Given the description of an element on the screen output the (x, y) to click on. 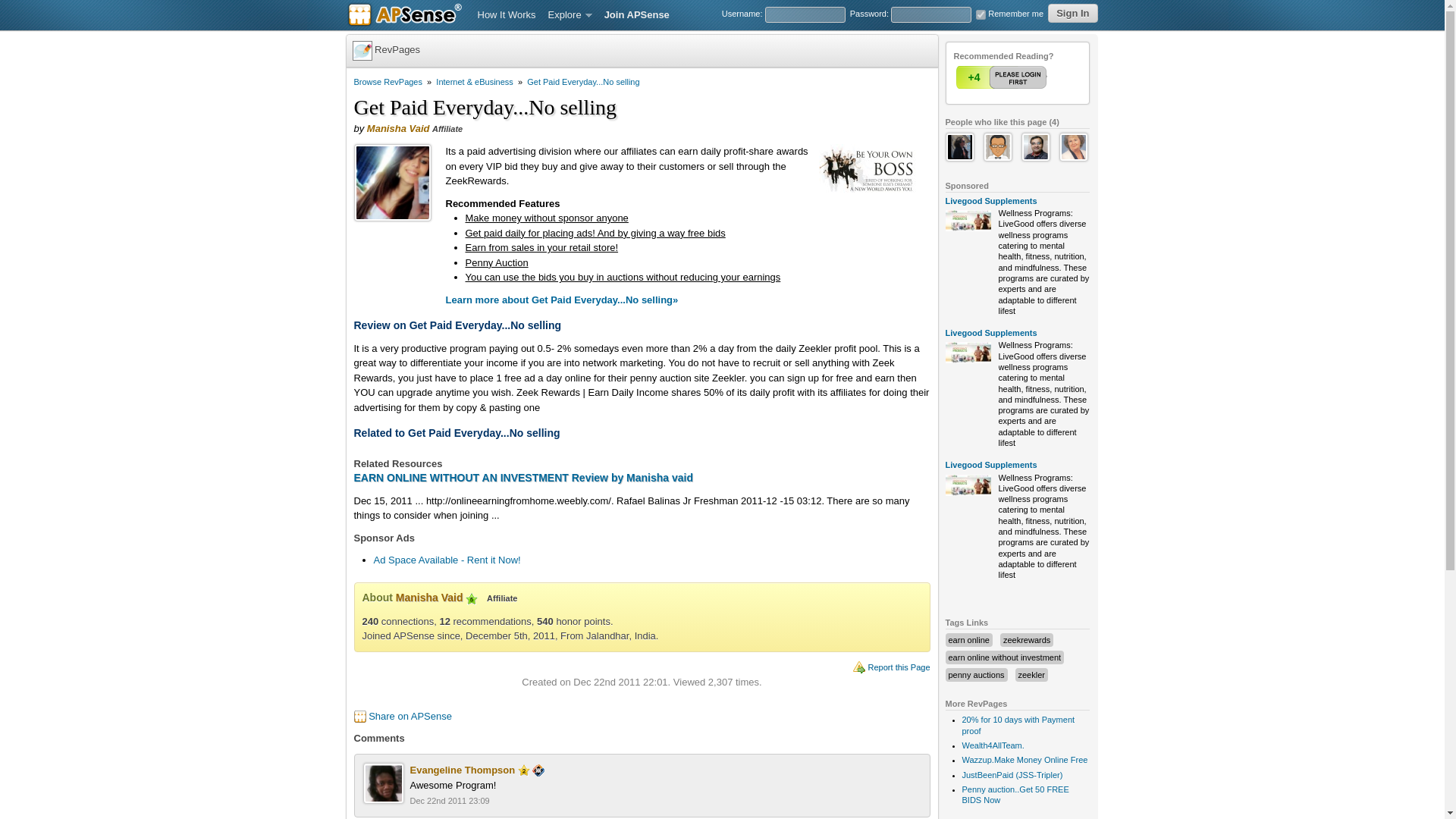
EARN ONLINE WITHOUT AN INVESTMENT Review by Manisha vaid (523, 477)
Share on APSense (409, 715)
Freshman (523, 770)
Vote Up (1002, 77)
Ad Space Available - Rent it Now! (445, 559)
Browse RevPages (387, 81)
View Business Center (538, 769)
Sign In (1072, 13)
-1 (1031, 77)
1 (980, 14)
Join APSense (636, 15)
Manisha Vaid (397, 128)
Senior (471, 598)
1 (1002, 77)
Evangeline Thompson (462, 769)
